Given the description of an element on the screen output the (x, y) to click on. 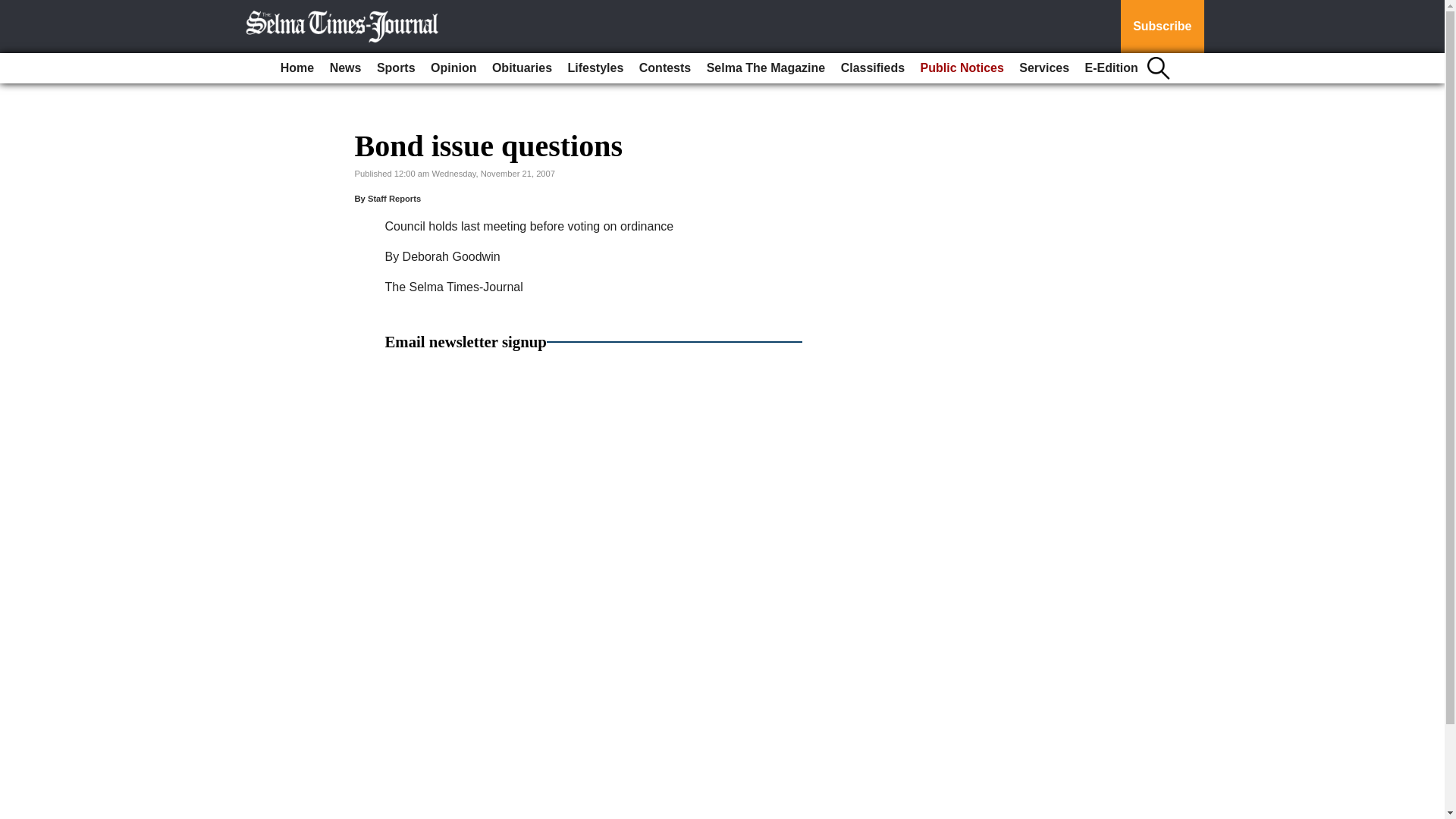
Services (1044, 68)
Obituaries (521, 68)
Selma The Magazine (765, 68)
Sports (396, 68)
Go (13, 9)
Staff Reports (394, 198)
Opinion (453, 68)
News (345, 68)
E-Edition (1111, 68)
Home (297, 68)
